Given the description of an element on the screen output the (x, y) to click on. 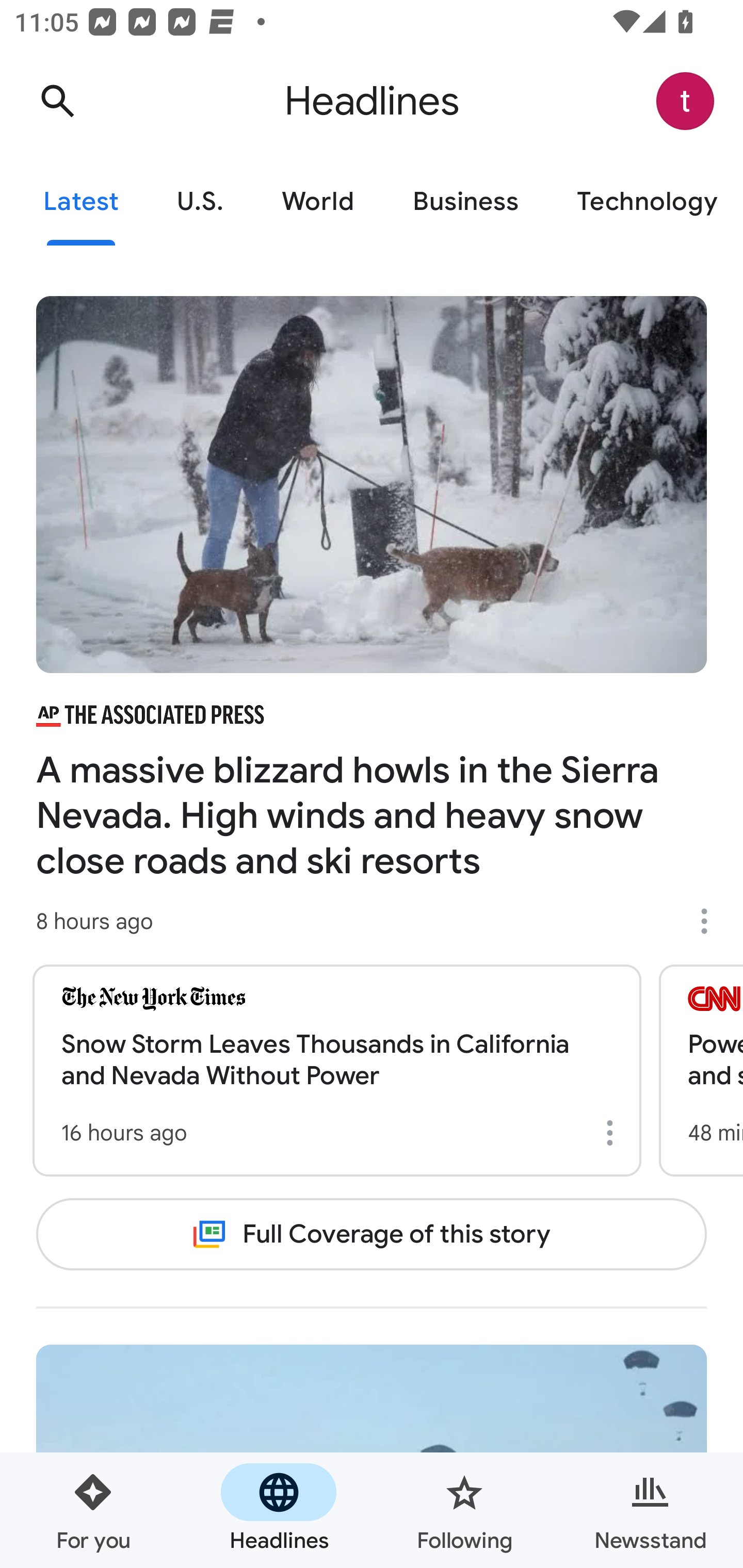
Search (57, 100)
U.S. (199, 202)
World (317, 202)
Business (465, 202)
Technology (645, 202)
More options (711, 921)
More options (613, 1132)
Full Coverage of this story (371, 1233)
For you (92, 1509)
Headlines (278, 1509)
Following (464, 1509)
Newsstand (650, 1509)
